Given the description of an element on the screen output the (x, y) to click on. 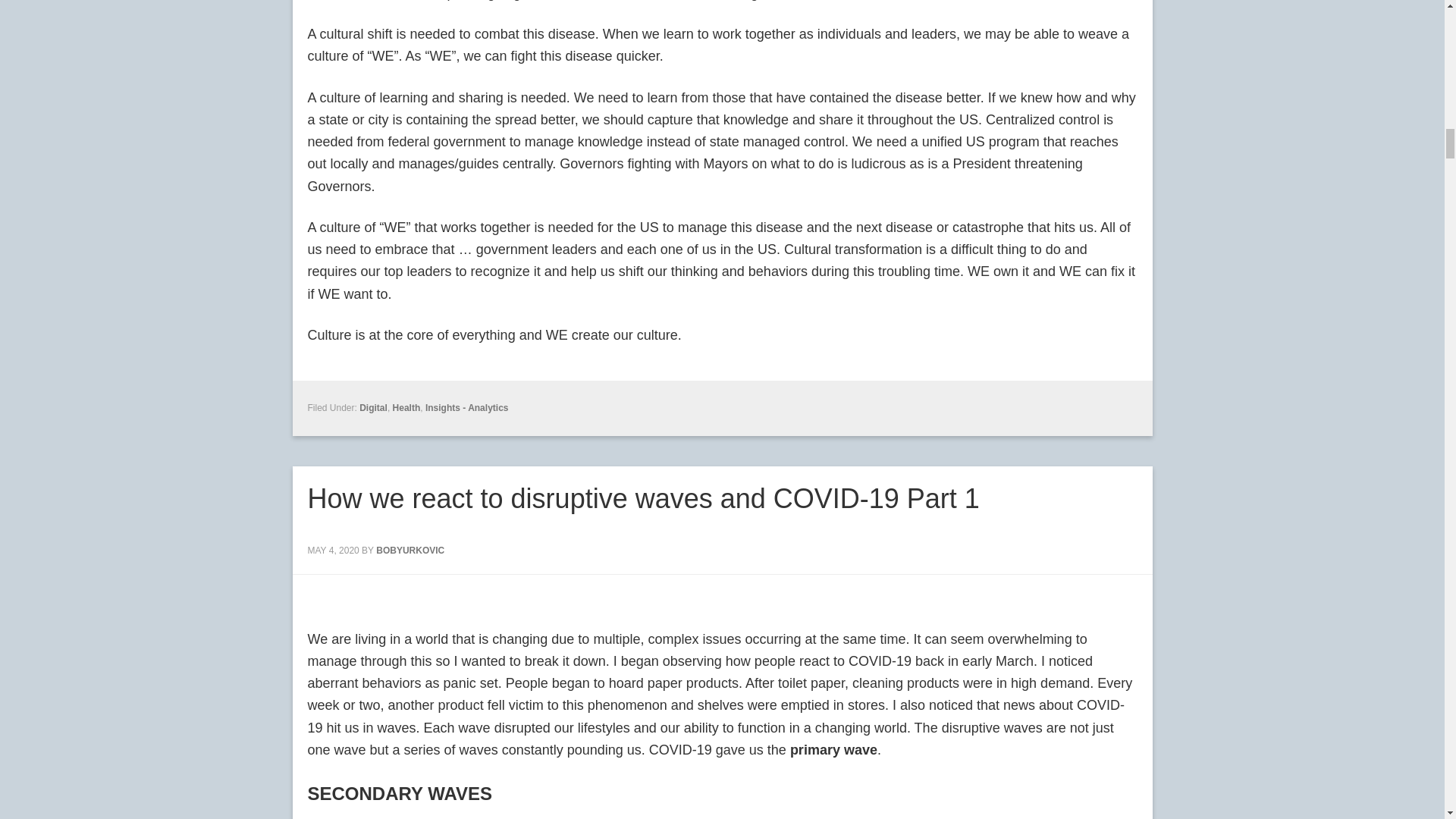
BOBYURKOVIC (409, 550)
Digital (373, 407)
How we react to disruptive waves and COVID-19 Part 1 (643, 498)
Health (406, 407)
Insights - Analytics (466, 407)
